Given the description of an element on the screen output the (x, y) to click on. 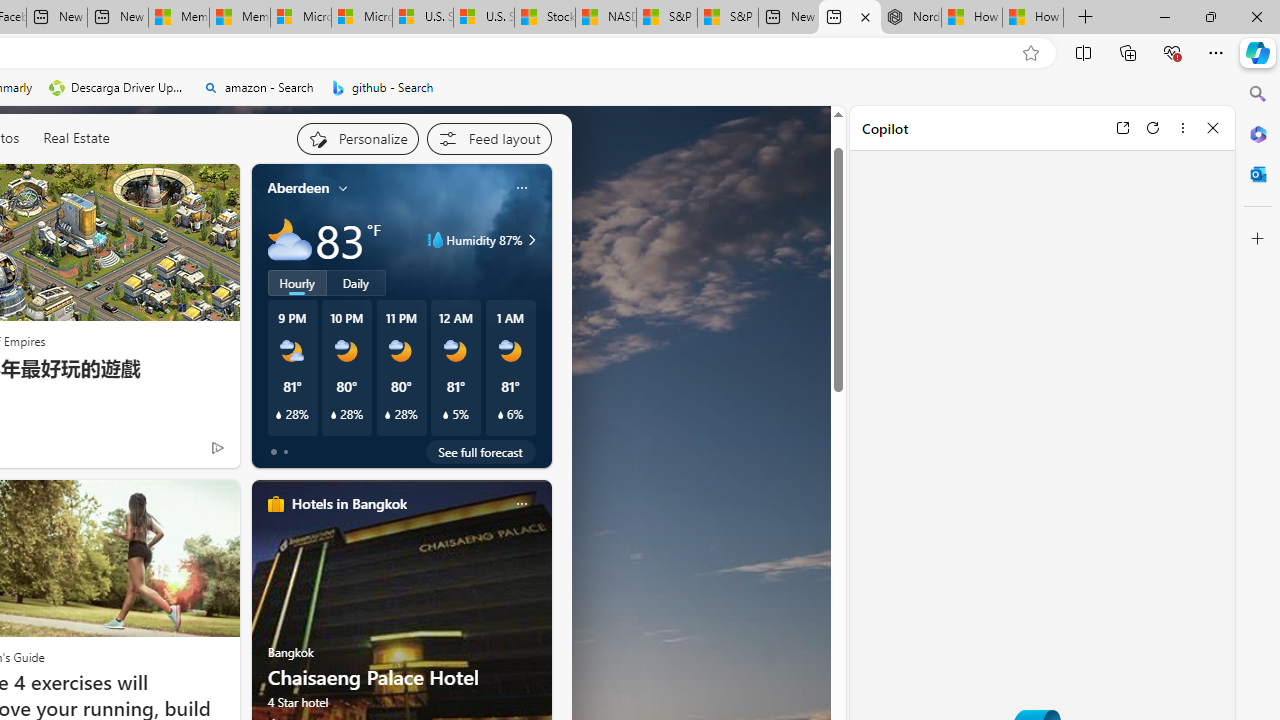
github - Search (381, 88)
Close (1213, 127)
Mostly cloudy (289, 240)
